Given the description of an element on the screen output the (x, y) to click on. 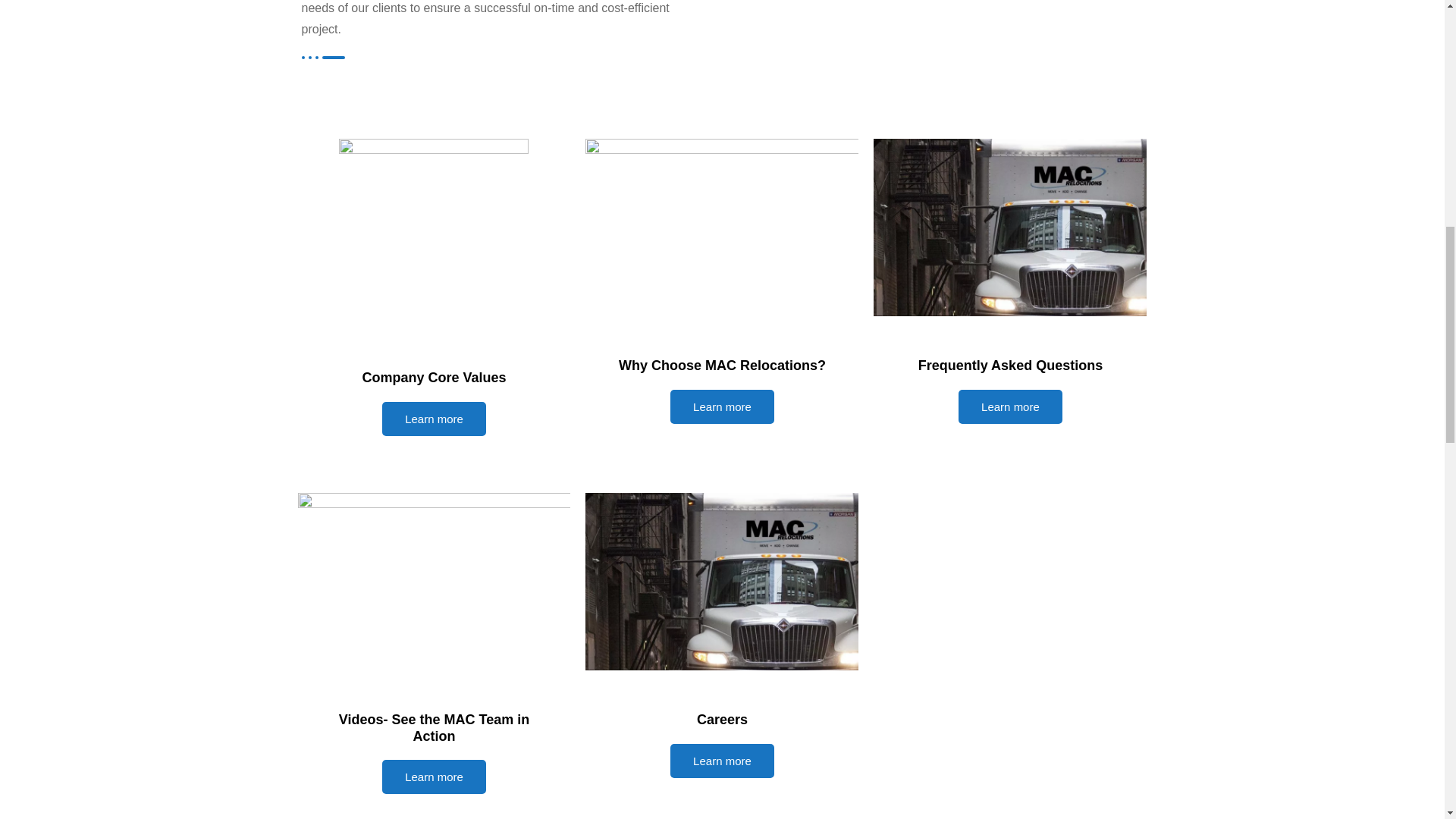
Learn more (721, 406)
Learn more (1010, 406)
Learn more (433, 776)
Learn more (721, 760)
Learn more (433, 418)
